Given the description of an element on the screen output the (x, y) to click on. 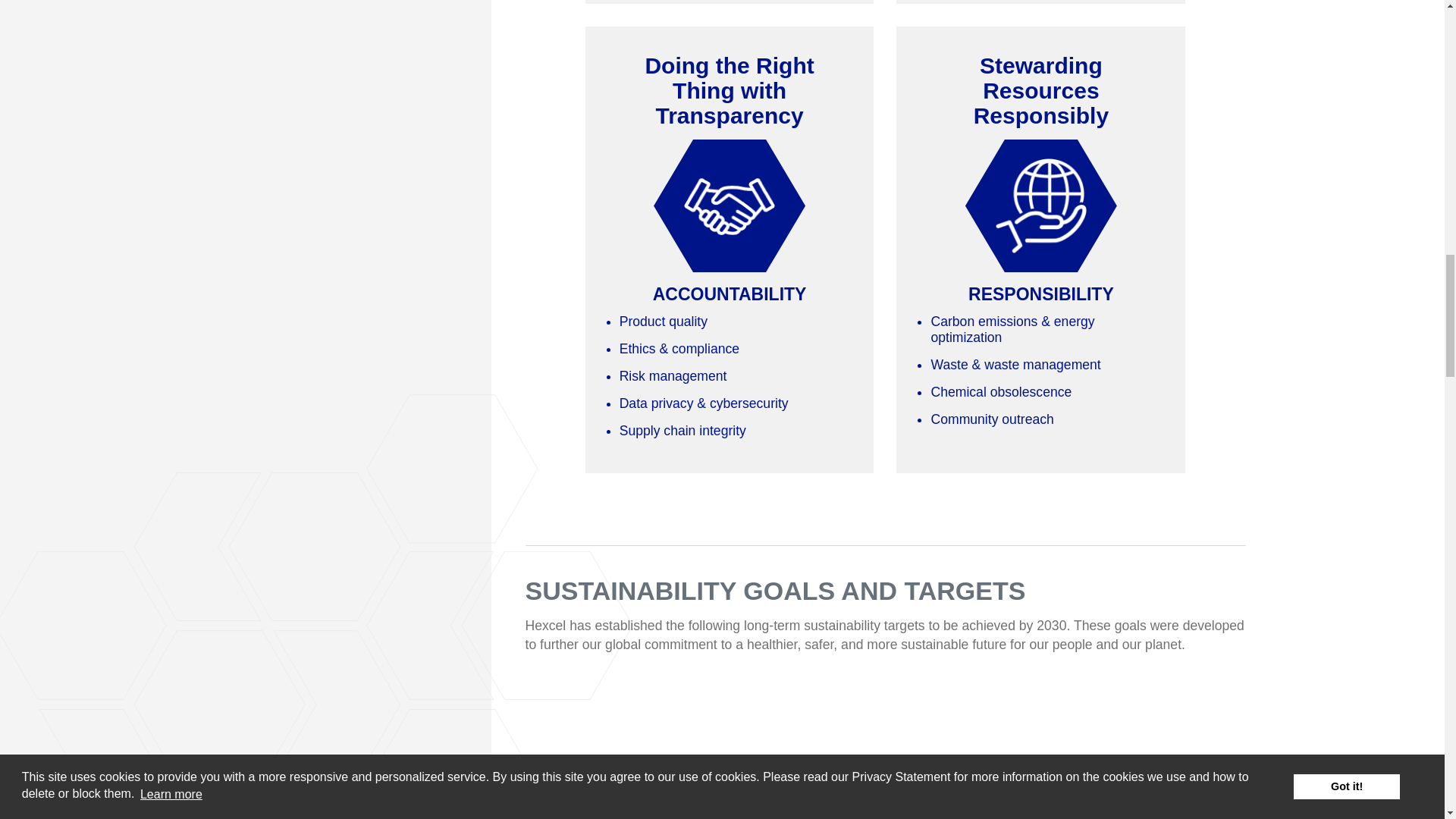
ACCOUNTABILITY (729, 205)
RESPONSIBILITY (1040, 205)
